Given the description of an element on the screen output the (x, y) to click on. 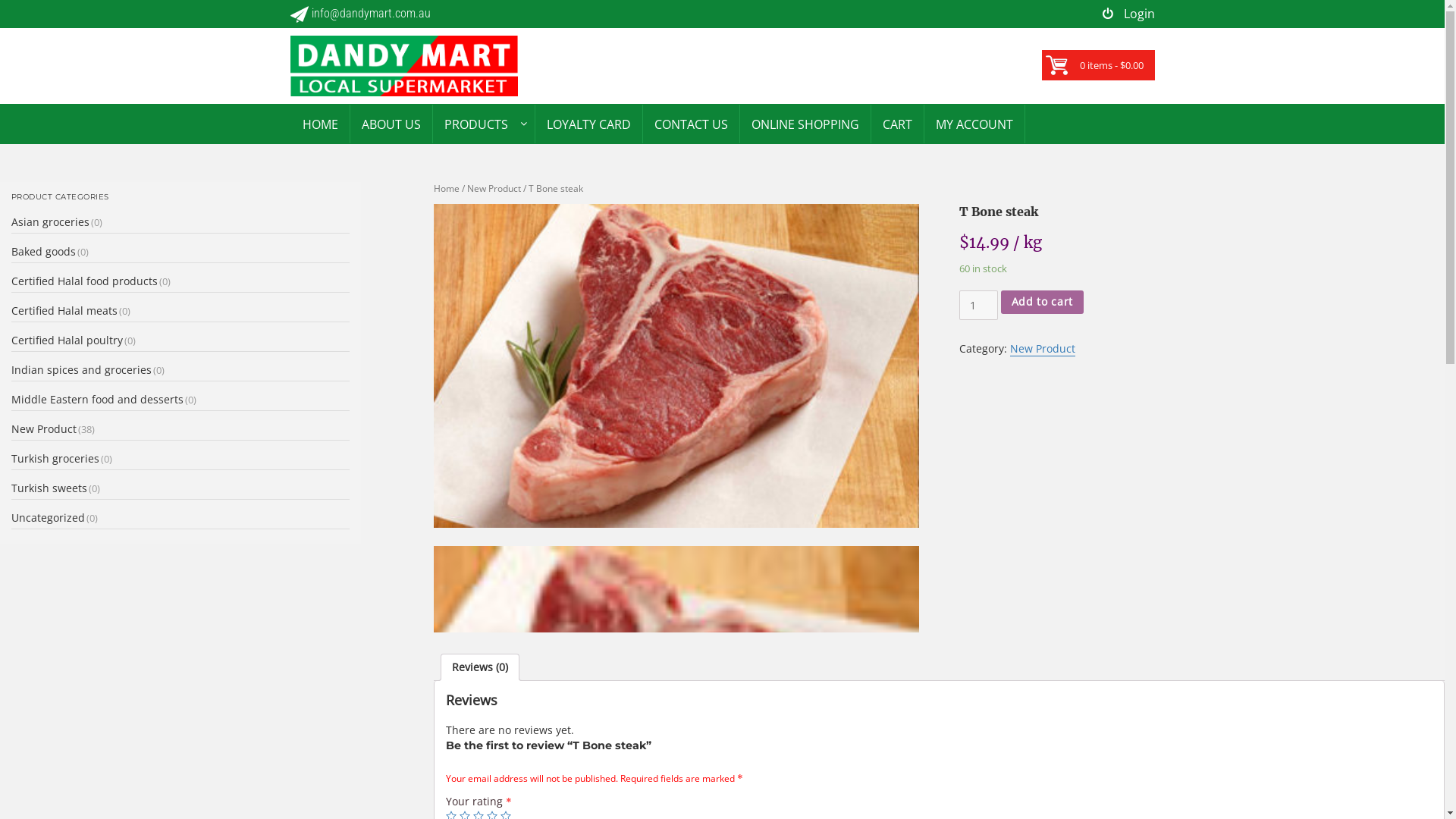
Certified Halal meats Element type: text (64, 310)
CART Element type: text (896, 123)
Baked goods Element type: text (43, 251)
Uncategorized Element type: text (47, 517)
PRODUCTS Element type: text (475, 123)
New Product Element type: text (43, 428)
Reviews (0) Element type: text (479, 667)
Asian groceries Element type: text (50, 221)
New Product Element type: text (493, 188)
ONLINE SHOPPING Element type: text (805, 123)
Middle Eastern food and desserts Element type: text (97, 399)
LOYALTY CARD Element type: text (588, 123)
New Product Element type: text (1042, 348)
MY ACCOUNT Element type: text (973, 123)
HOME Element type: text (320, 123)
CONTACT US Element type: text (691, 123)
Login Element type: text (1128, 13)
info@dandymart.com.au Element type: text (359, 13)
tbone-steak Element type: hover (676, 365)
Certified Halal food products Element type: text (84, 280)
Turkish sweets Element type: text (49, 487)
Qty Element type: hover (978, 305)
Indian spices and groceries Element type: text (81, 369)
Home Element type: text (446, 188)
0 items - $0.00 Element type: text (1111, 65)
ABOUT US Element type: text (391, 123)
Turkish groceries Element type: text (55, 458)
Certified Halal poultry Element type: text (66, 339)
Add to cart Element type: text (1042, 301)
